Given the description of an element on the screen output the (x, y) to click on. 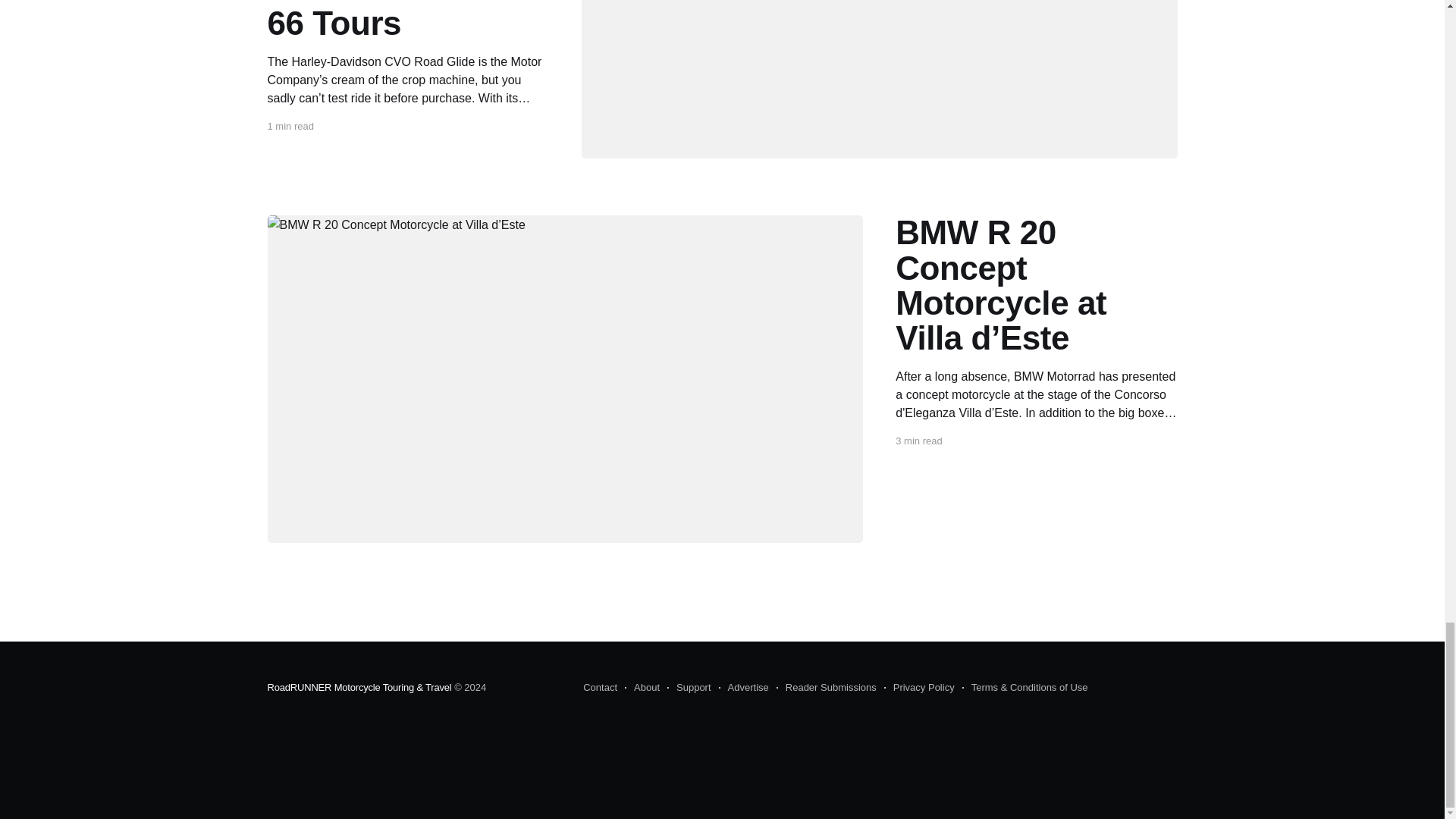
Privacy Policy (919, 687)
Advertise (743, 687)
Support (688, 687)
Contact (600, 687)
Reader Submissions (826, 687)
About (641, 687)
